Given the description of an element on the screen output the (x, y) to click on. 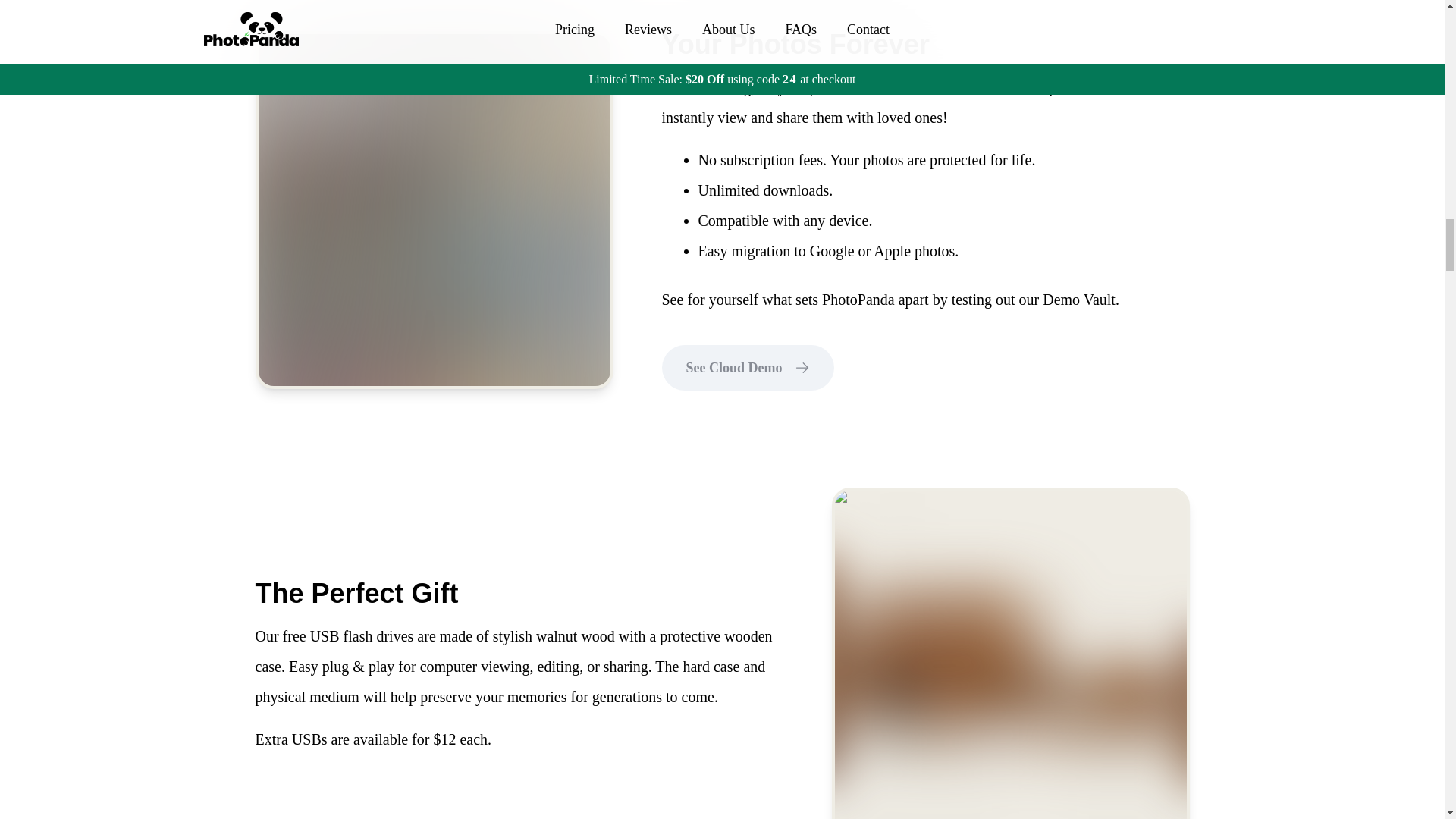
See Cloud Demo (746, 365)
See Cloud Demo (746, 366)
